Given the description of an element on the screen output the (x, y) to click on. 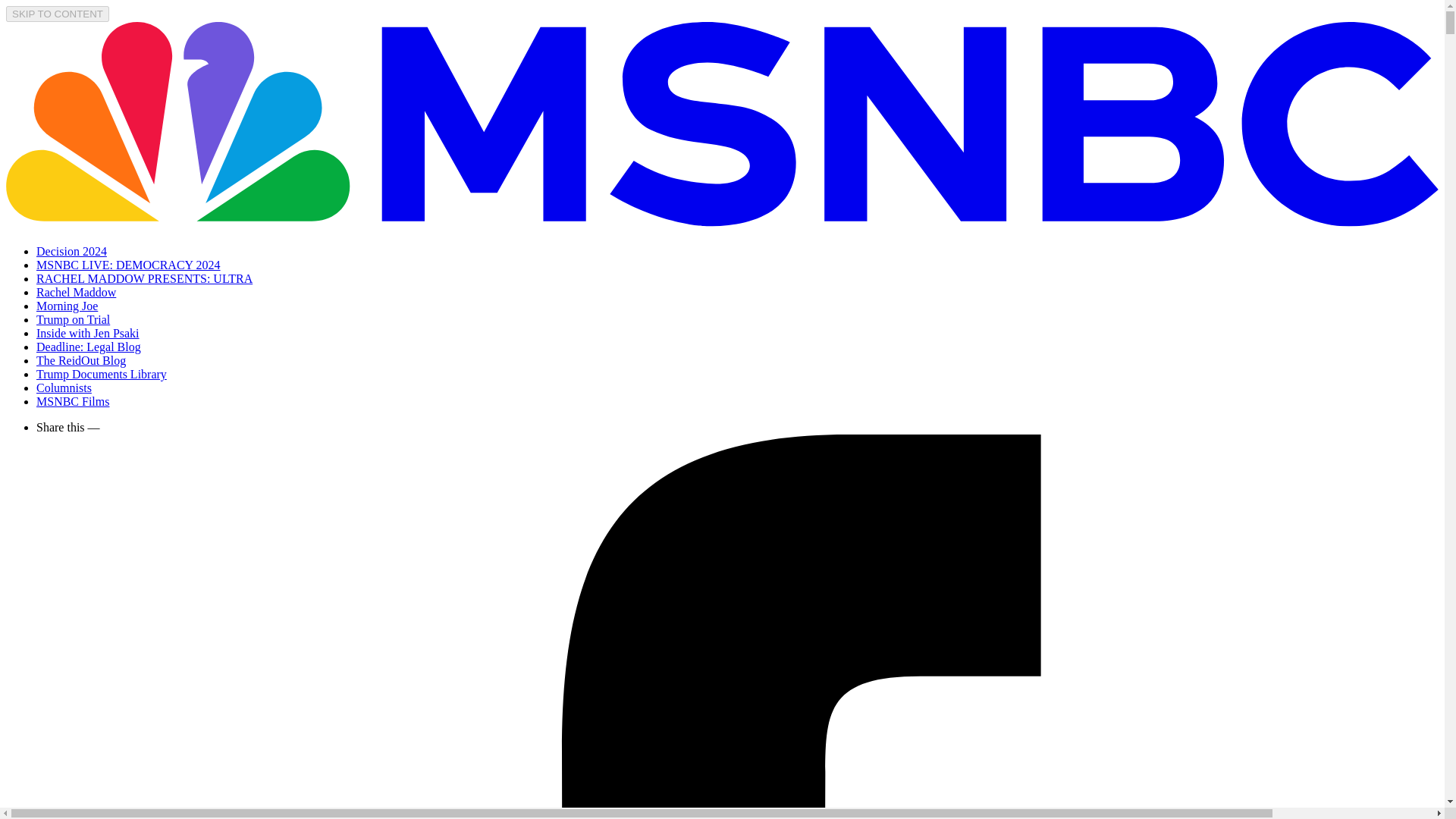
Trump on Trial (73, 318)
MSNBC Films (72, 400)
Morning Joe (66, 305)
RACHEL MADDOW PRESENTS: ULTRA (143, 278)
Deadline: Legal Blog (88, 346)
MSNBC LIVE: DEMOCRACY 2024 (128, 264)
Trump Documents Library (101, 373)
Columnists (63, 387)
